Given the description of an element on the screen output the (x, y) to click on. 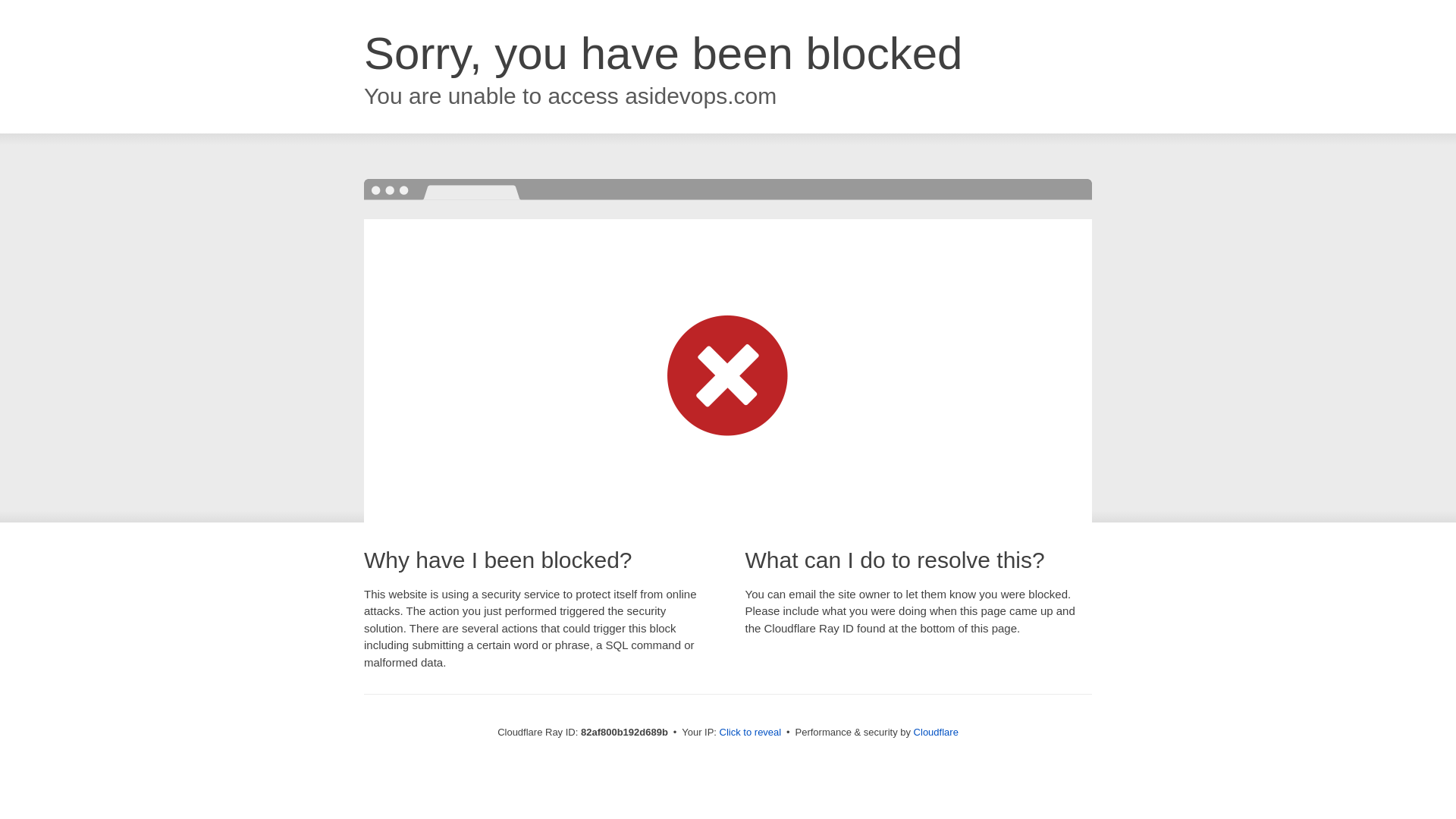
Click to reveal Element type: text (750, 732)
Cloudflare Element type: text (935, 731)
